Given the description of an element on the screen output the (x, y) to click on. 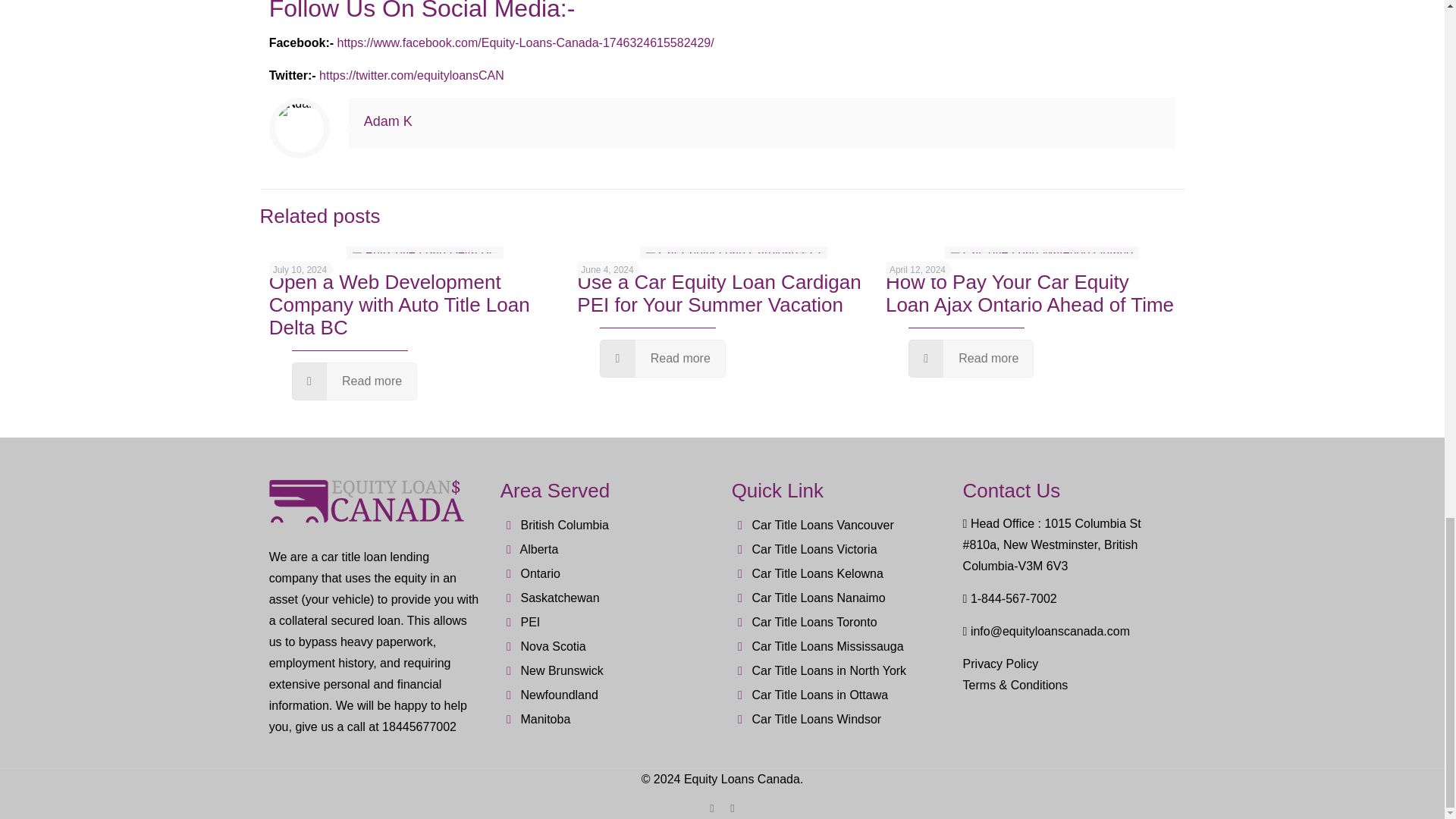
Read more (354, 381)
Open a Web Development Company with Auto Title Loan Delta BC (399, 305)
Adam K (388, 120)
Facebook (711, 807)
Twitter (731, 807)
